Given the description of an element on the screen output the (x, y) to click on. 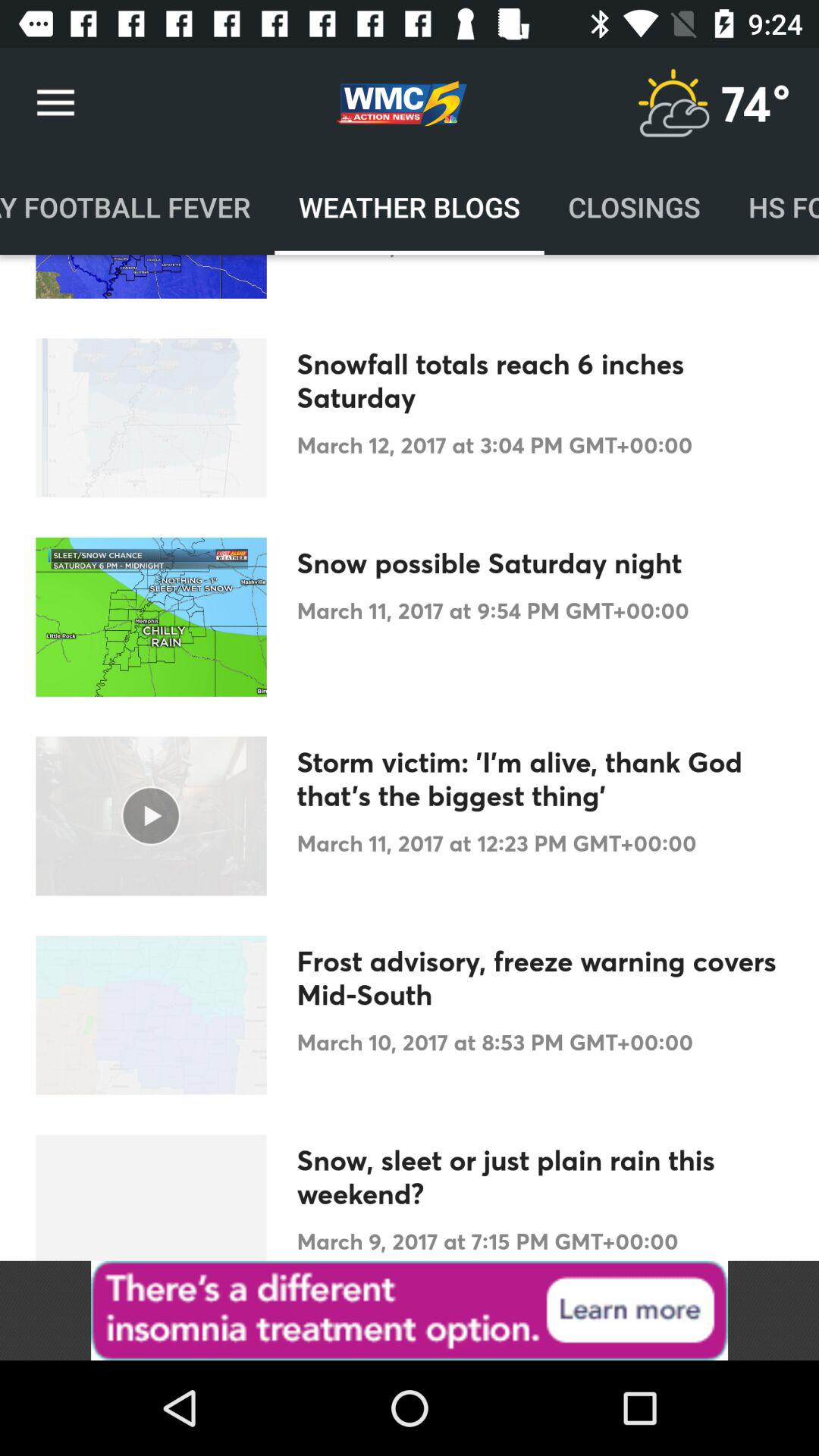
advertisement banner (409, 1310)
